Given the description of an element on the screen output the (x, y) to click on. 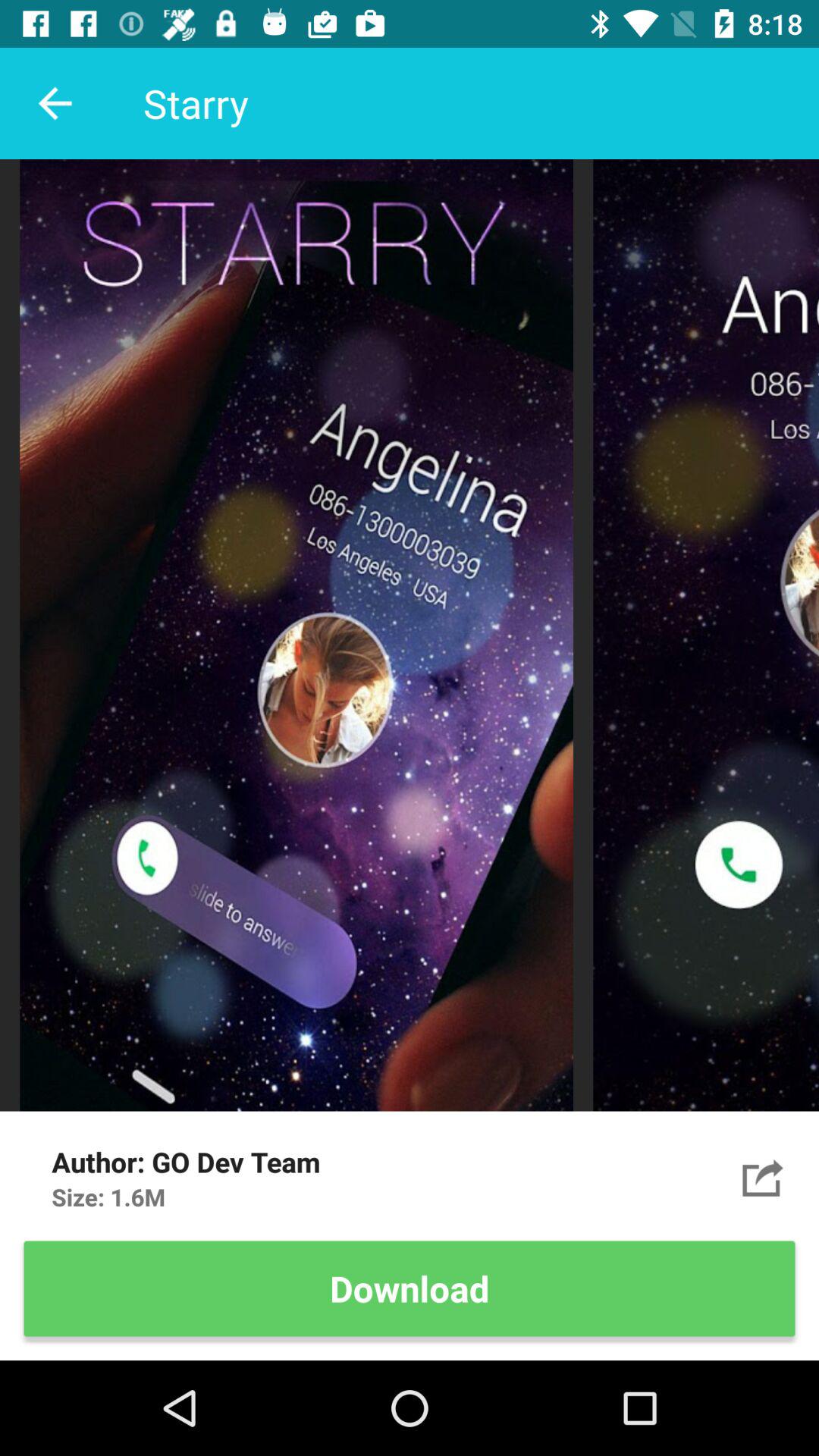
launch the item next to go dev team item (763, 1177)
